Given the description of an element on the screen output the (x, y) to click on. 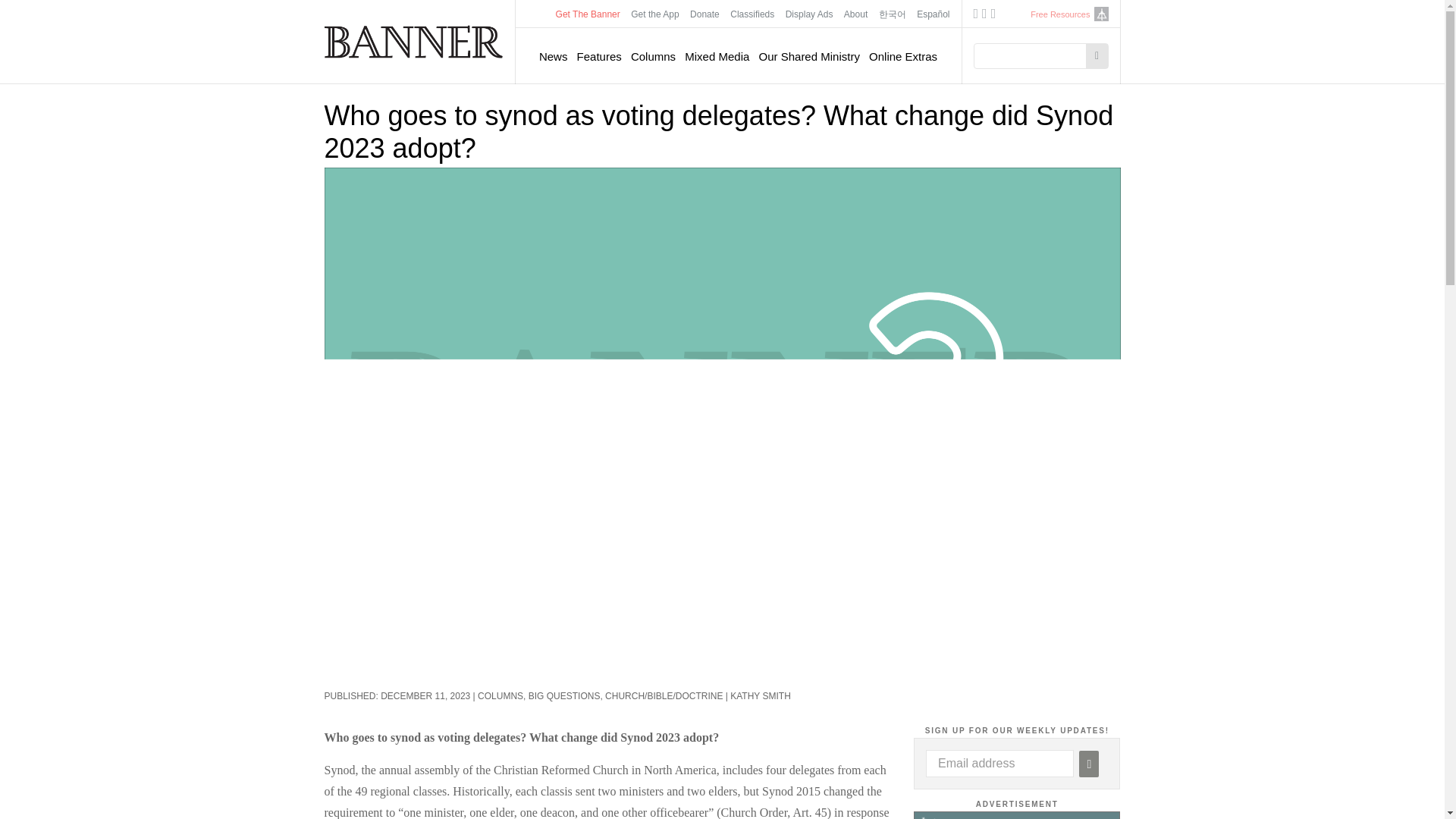
Get The Banner (587, 14)
Get the App (654, 14)
Columns (652, 56)
Our Shared Ministry (809, 56)
Mixed Media (716, 56)
Enter the terms you wish to search for. (1035, 55)
Home (413, 41)
Search (1097, 55)
Display Ads (809, 14)
